Given the description of an element on the screen output the (x, y) to click on. 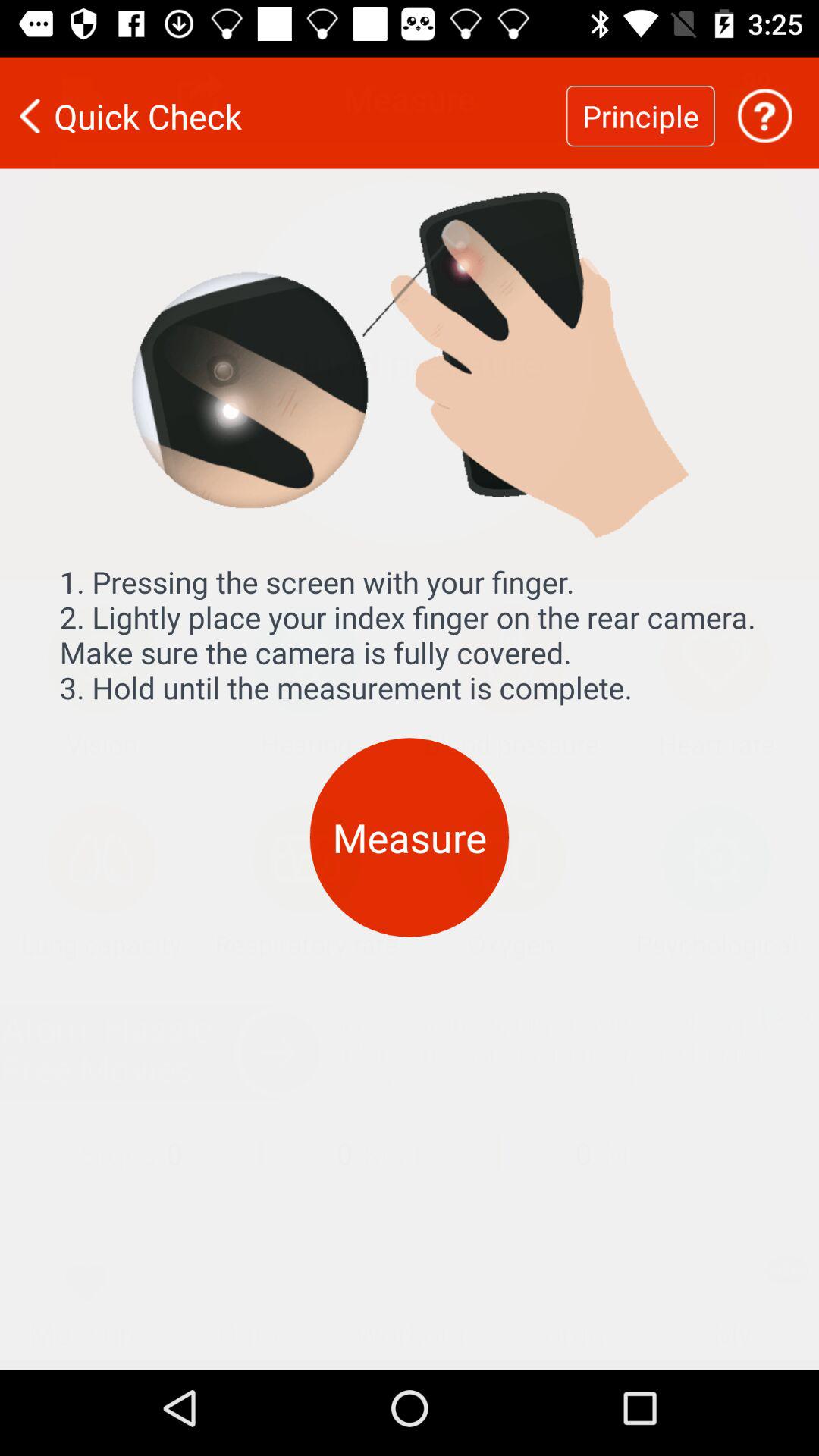
choose the item to the left of principle (283, 106)
